Given the description of an element on the screen output the (x, y) to click on. 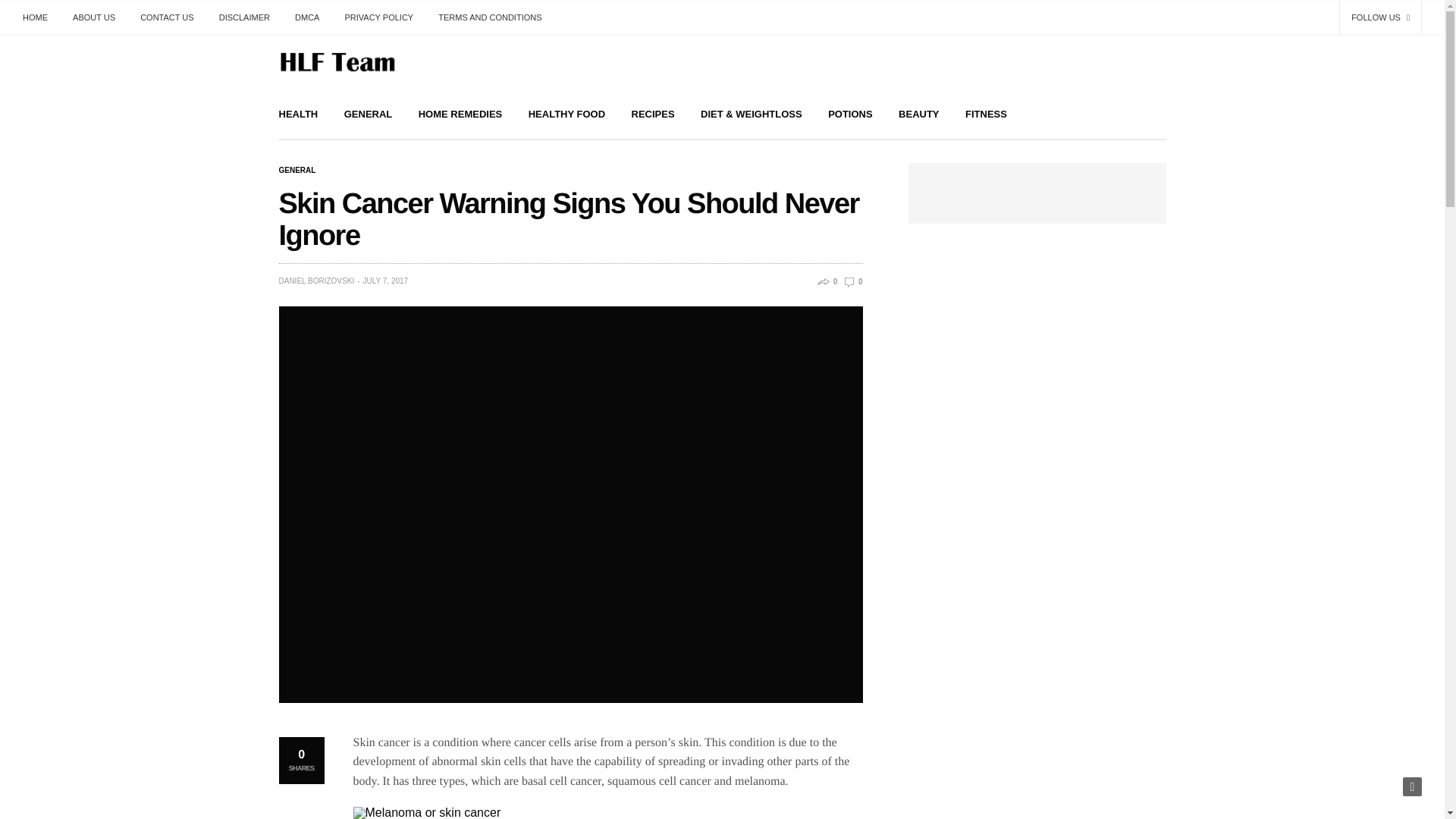
HEALTH (298, 113)
Posts by Daniel Borizovski (317, 281)
PRIVACY POLICY (379, 17)
Skin Cancer Warning Signs You Should Never Ignore (852, 281)
GENERAL (368, 113)
DMCA (306, 17)
BEAUTY (918, 113)
FOLLOW US (1380, 17)
General (297, 170)
HOME (41, 17)
POTIONS (850, 113)
FITNESS (986, 113)
0 (852, 281)
TERMS AND CONDITIONS (489, 17)
HOME REMEDIES (460, 113)
